Given the description of an element on the screen output the (x, y) to click on. 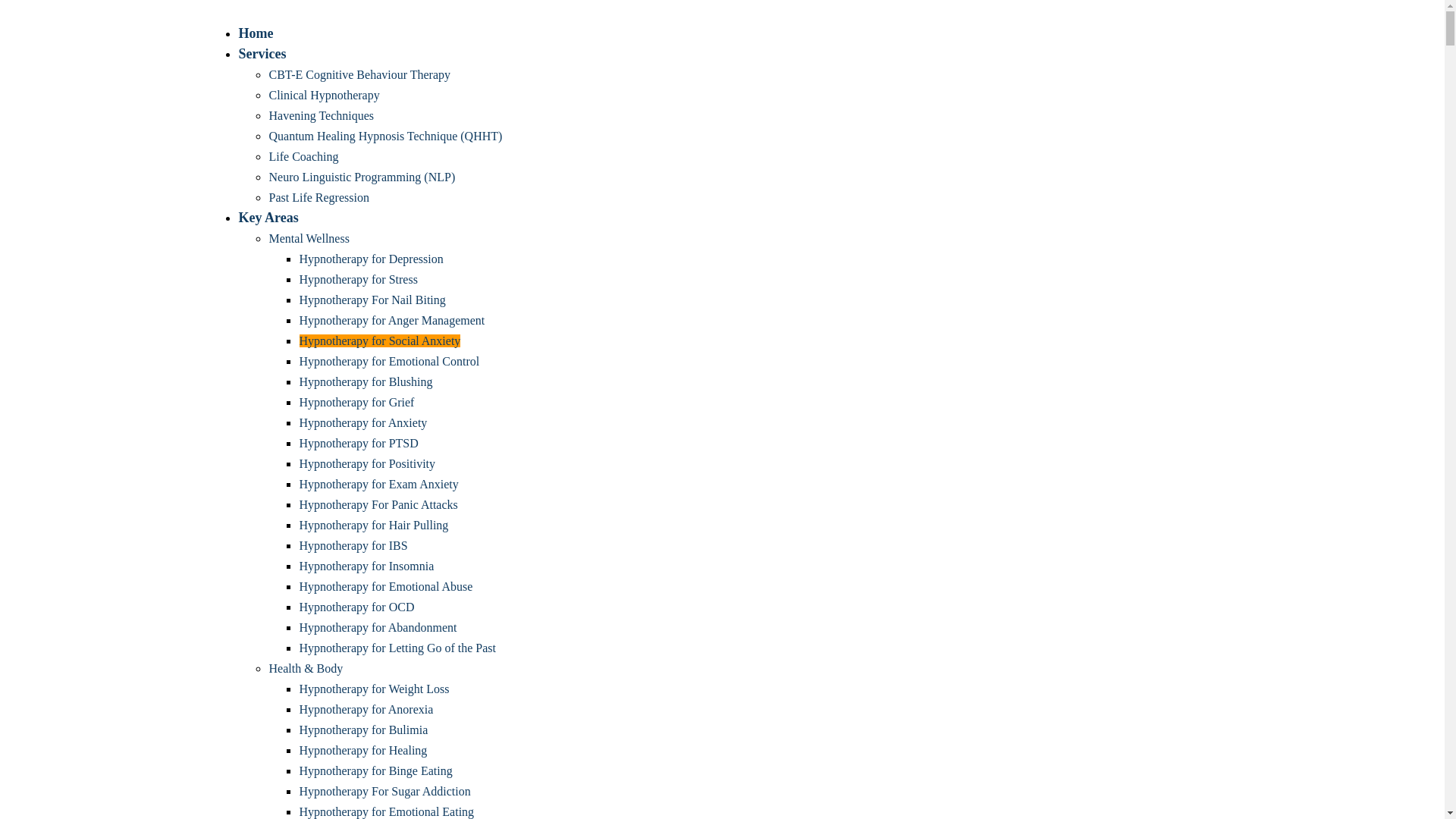
Hypnotherapy For Panic Attacks Element type: text (377, 504)
Hypnotherapy for Exam Anxiety Element type: text (378, 483)
Hypnotherapy for Anger Management Element type: text (391, 319)
Health & Body Element type: text (305, 668)
Hypnotherapy for Emotional Eating Element type: text (385, 811)
Hypnotherapy for Blushing Element type: text (365, 381)
Hypnotherapy for Depression Element type: text (370, 258)
Hypnotherapy for OCD Element type: text (356, 606)
Key Areas Element type: text (268, 217)
Neuro Linguistic Programming (NLP) Element type: text (361, 176)
Hypnotherapy For Nail Biting Element type: text (371, 299)
Life Coaching Element type: text (303, 156)
Hypnotherapy for PTSD Element type: text (357, 442)
Hypnotherapy for Anxiety Element type: text (362, 422)
Hypnotherapy for Weight Loss Element type: text (373, 688)
Hypnotherapy for Letting Go of the Past Element type: text (396, 647)
Hypnotherapy for Grief Element type: text (356, 401)
Hypnotherapy for Insomnia Element type: text (365, 565)
Hypnotherapy for Healing Element type: text (362, 749)
Havening Techniques Element type: text (320, 115)
Hypnotherapy for Emotional Control Element type: text (388, 360)
Hypnotherapy for Binge Eating Element type: text (374, 770)
Hypnotherapy for Stress Element type: text (357, 279)
Hypnotherapy for Anorexia Element type: text (365, 708)
Clinical Hypnotherapy Element type: text (323, 94)
Quantum Healing Hypnosis Technique (QHHT) Element type: text (385, 135)
Home Element type: text (255, 32)
Mental Wellness Element type: text (308, 238)
Hypnotherapy for Abandonment Element type: text (377, 627)
Hypnotherapy for Positivity Element type: text (366, 463)
Past Life Regression Element type: text (318, 197)
Hypnotherapy for IBS Element type: text (352, 545)
CBT-E Cognitive Behaviour Therapy Element type: text (359, 74)
Hypnotherapy for Bulimia Element type: text (362, 729)
Hypnotherapy for Hair Pulling Element type: text (373, 524)
Services Element type: text (261, 53)
Hypnotherapy for Social Anxiety Element type: text (379, 340)
Hypnotherapy for Emotional Abuse Element type: text (385, 586)
Hypnotherapy For Sugar Addiction Element type: text (384, 790)
